Given the description of an element on the screen output the (x, y) to click on. 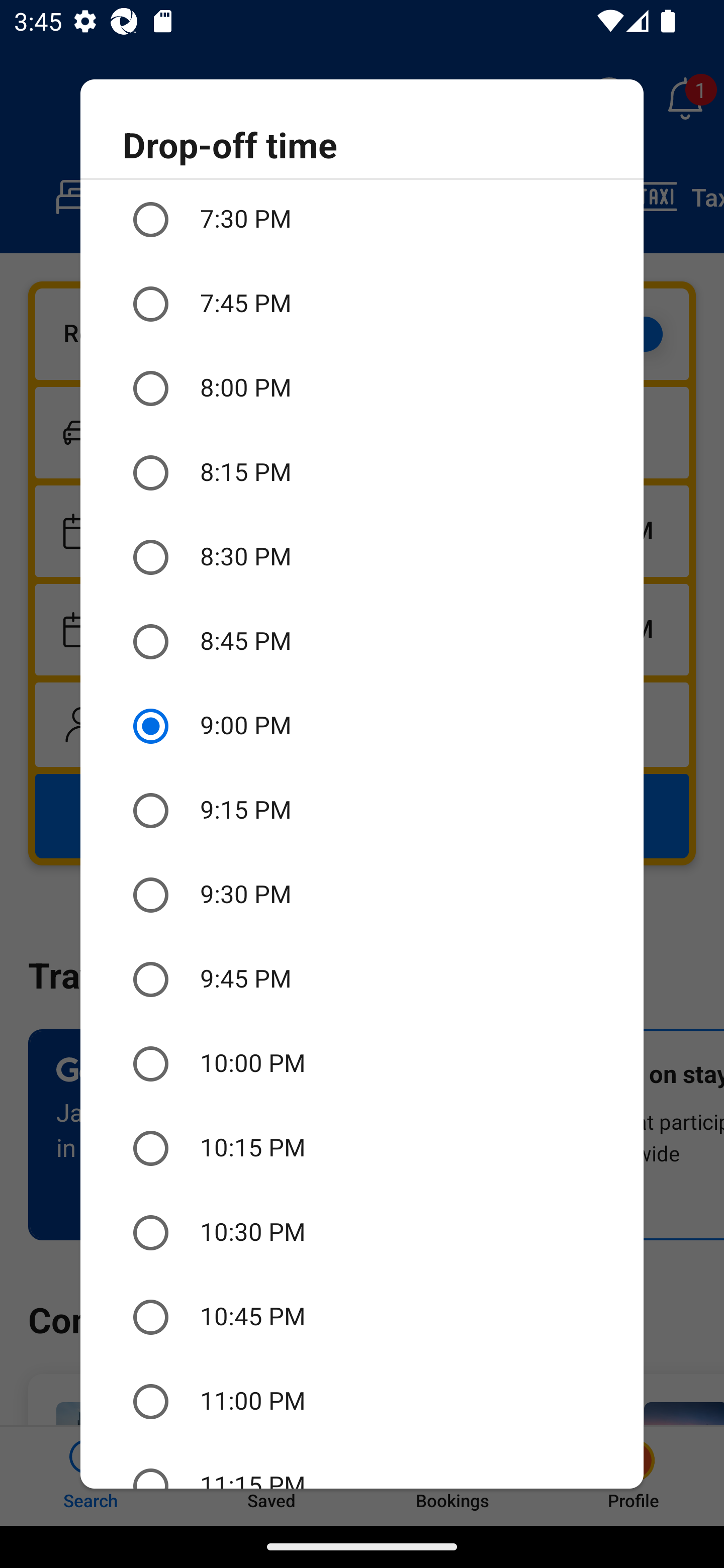
7:30 PM (361, 220)
7:45 PM (361, 303)
8:00 PM (361, 388)
8:15 PM (361, 473)
8:30 PM (361, 556)
8:45 PM (361, 640)
9:00 PM (361, 725)
9:15 PM (361, 810)
9:30 PM (361, 894)
9:45 PM (361, 979)
10:00 PM (361, 1063)
10:15 PM (361, 1147)
10:30 PM (361, 1232)
10:45 PM (361, 1316)
11:00 PM (361, 1401)
